Given the description of an element on the screen output the (x, y) to click on. 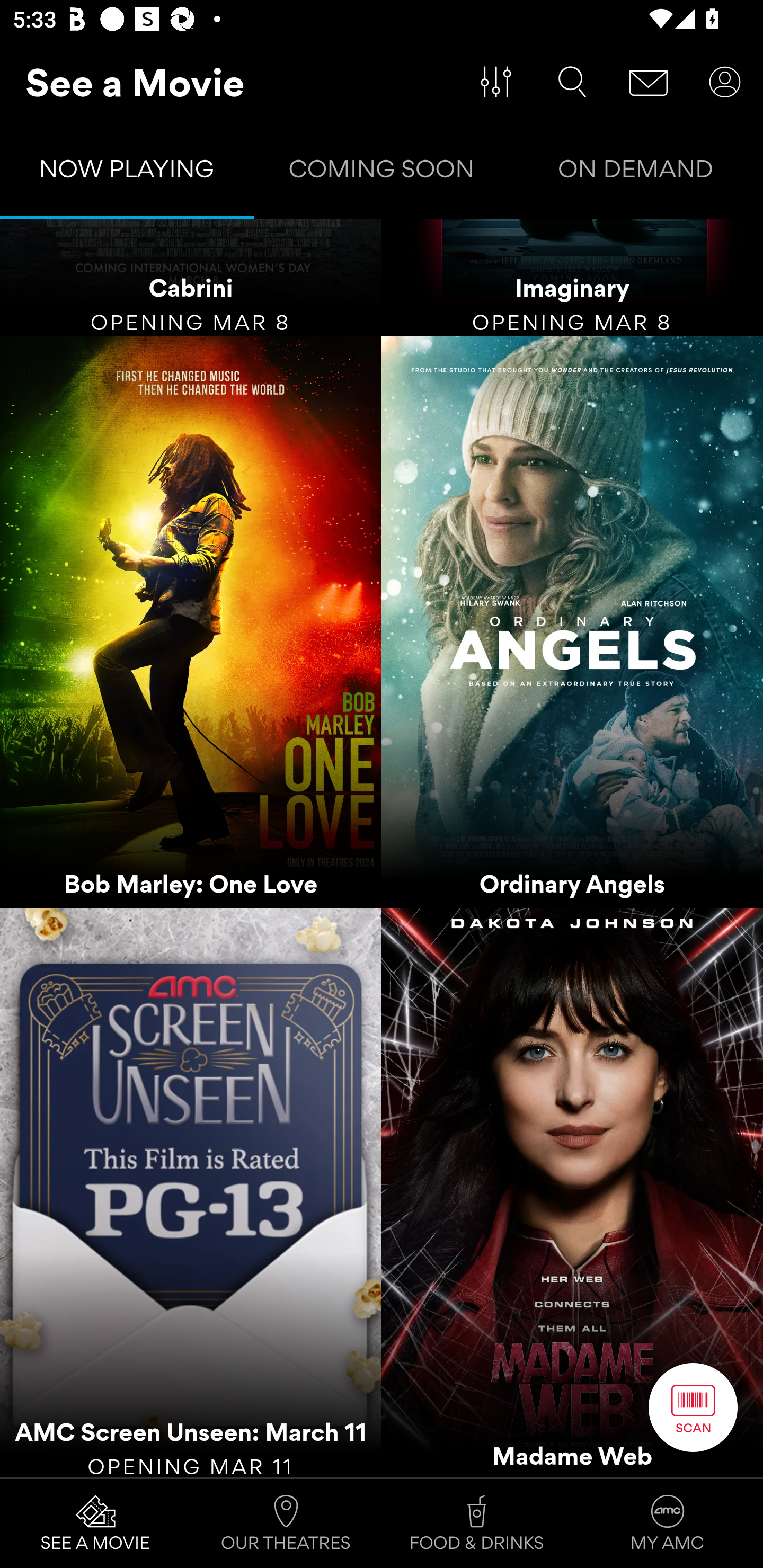
Filter Movies (495, 82)
Search (572, 82)
Message Center (648, 82)
User Account (724, 82)
NOW PLAYING
Tab 1 of 3 (127, 173)
COMING SOON
Tab 2 of 3 (381, 173)
ON DEMAND
Tab 3 of 3 (635, 173)
Cabrini
OPENING MAR 8 (190, 278)
Imaginary
OPENING MAR 8 (572, 278)
Bob Marley: One Love (190, 622)
Ordinary Angels (572, 622)
AMC Screen Unseen: March 11
OPENING MAR 11 (190, 1192)
Madame Web (572, 1192)
Scan Button (692, 1406)
SEE A MOVIE
Tab 1 of 4 (95, 1523)
OUR THEATRES
Tab 2 of 4 (285, 1523)
FOOD & DRINKS
Tab 3 of 4 (476, 1523)
MY AMC
Tab 4 of 4 (667, 1523)
